Given the description of an element on the screen output the (x, y) to click on. 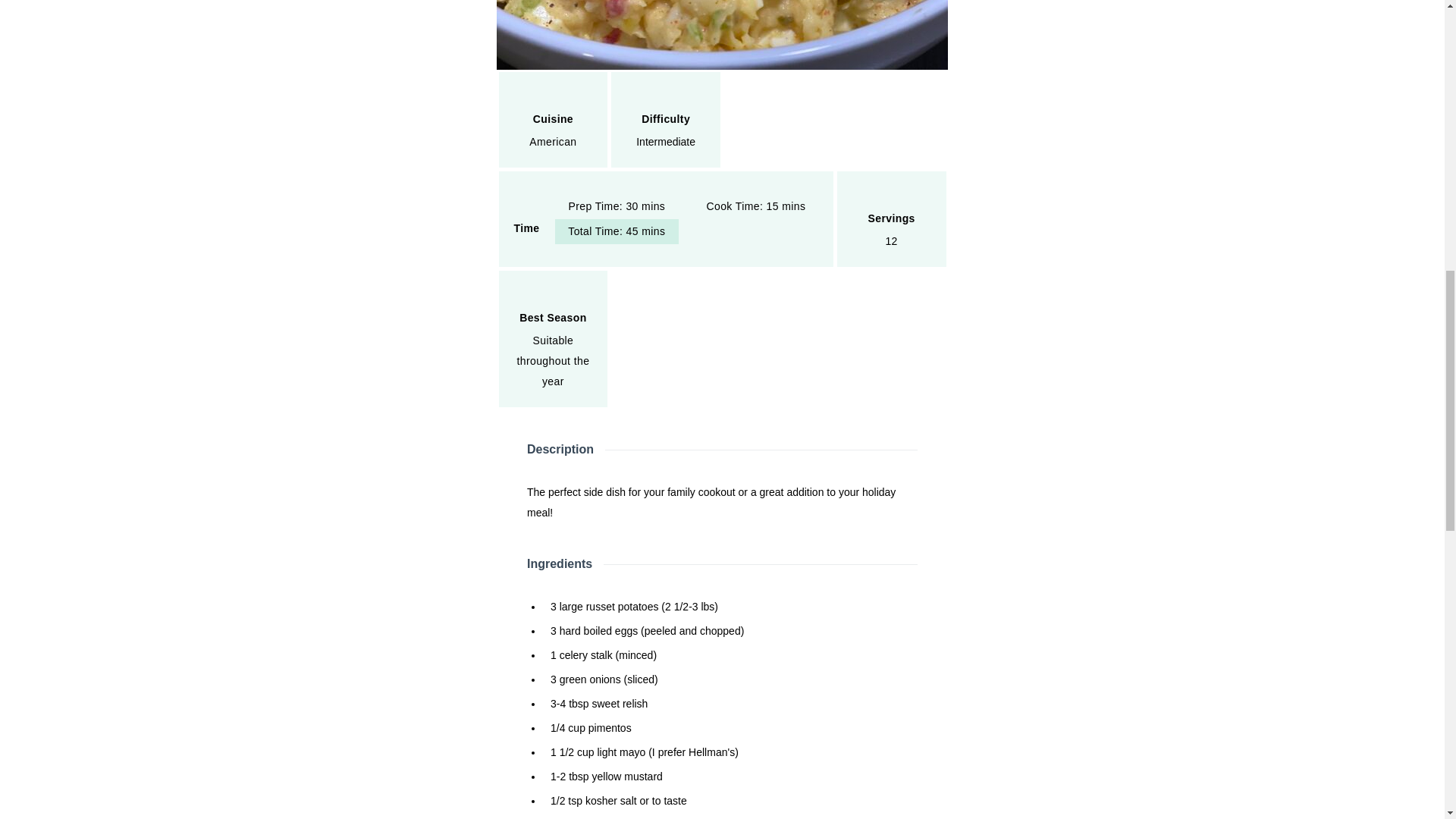
American (552, 141)
